Given the description of an element on the screen output the (x, y) to click on. 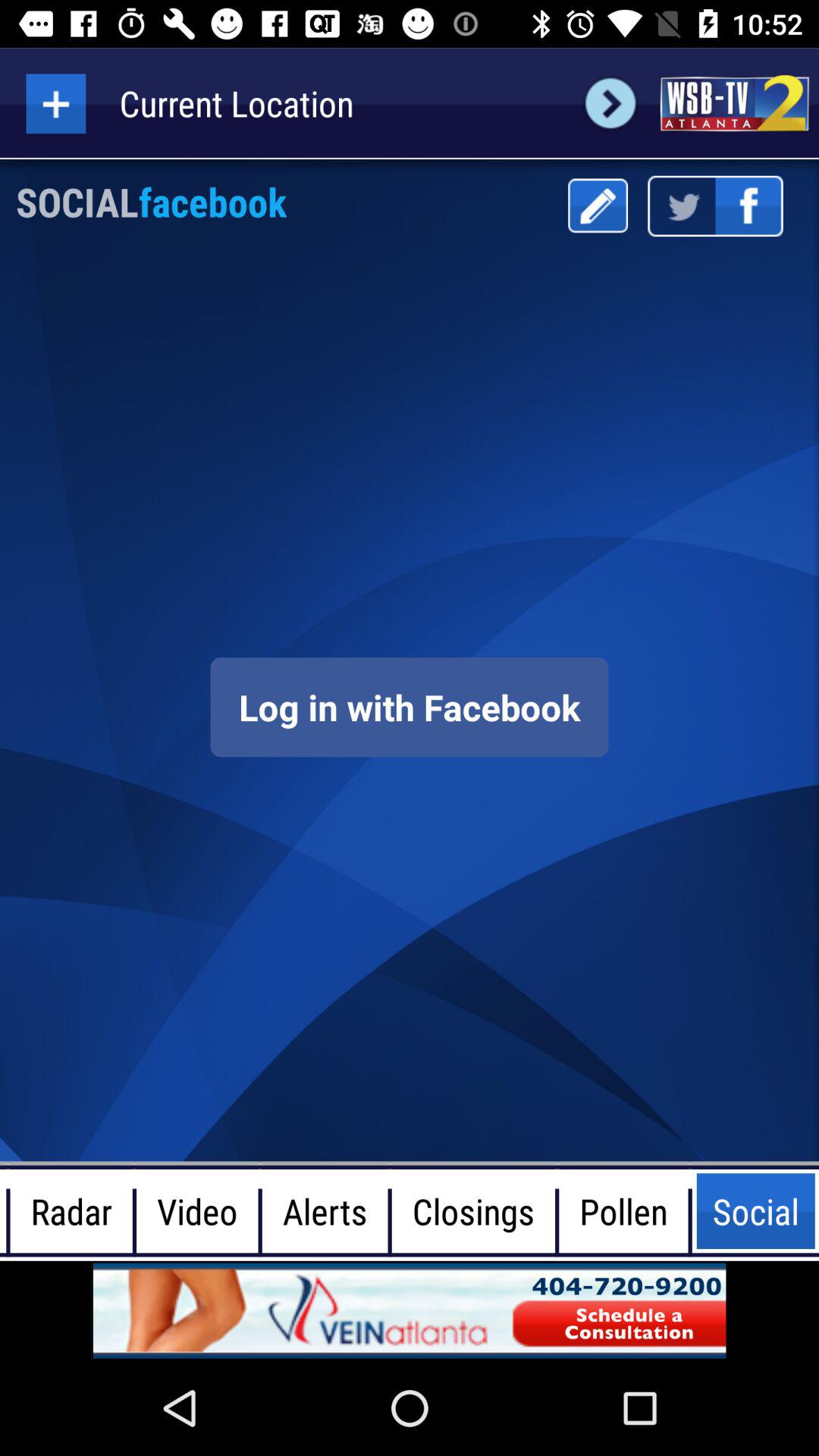
next page (610, 103)
